Given the description of an element on the screen output the (x, y) to click on. 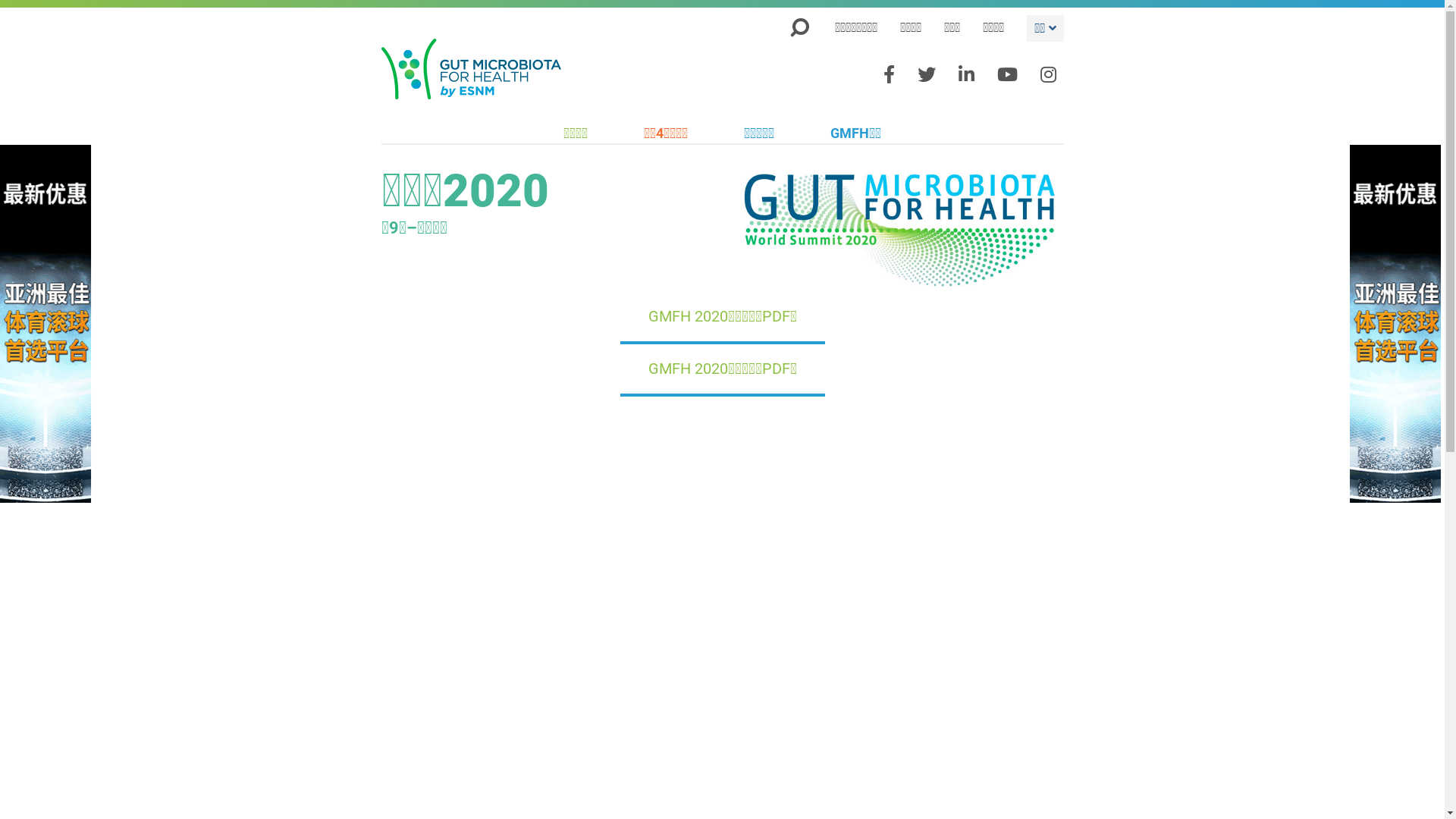
GMFH Summit Madrid 2020 Element type: hover (899, 227)
